Given the description of an element on the screen output the (x, y) to click on. 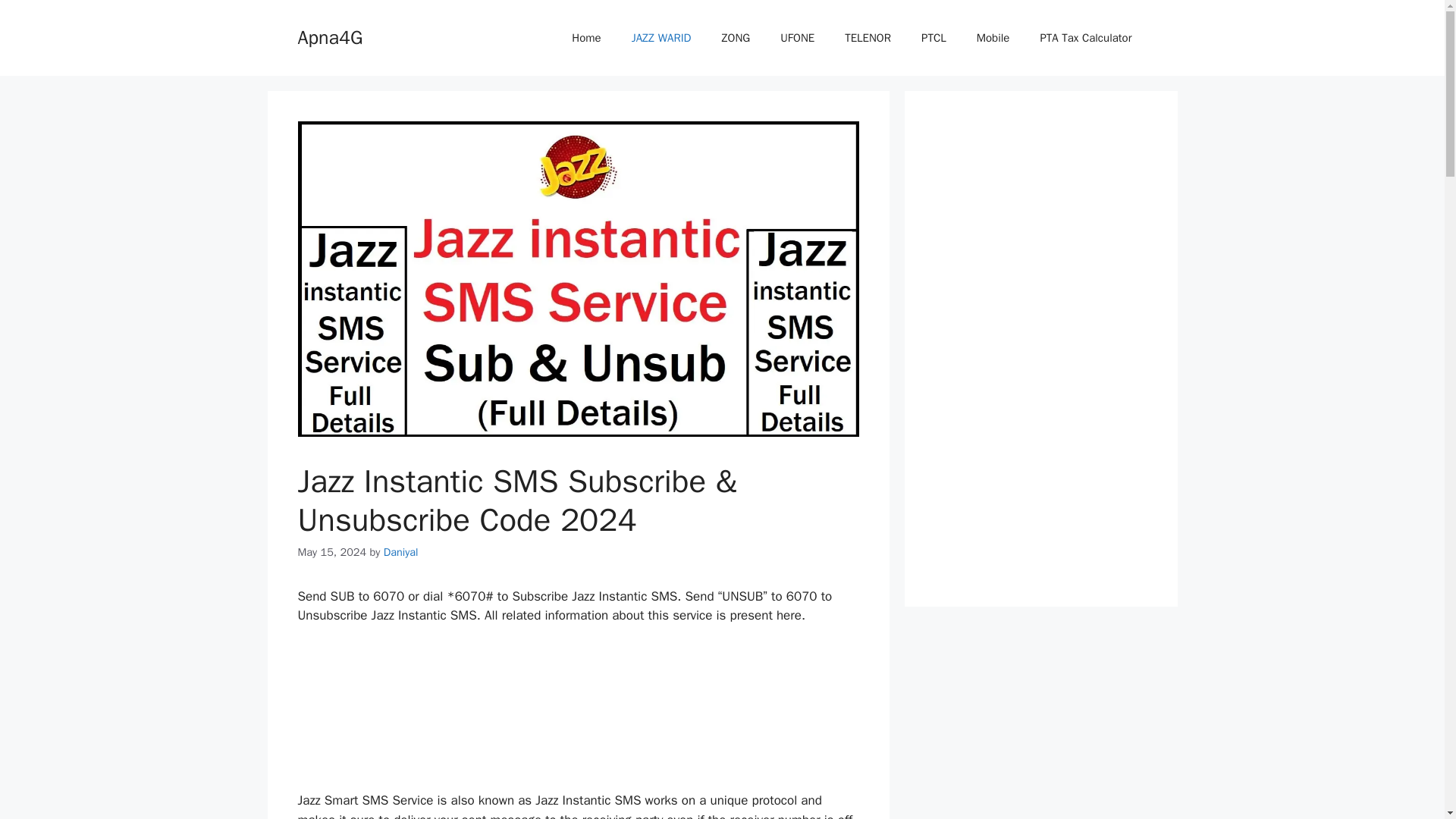
ZONG (735, 37)
JAZZ WARID (660, 37)
Home (585, 37)
Apna4G (329, 37)
View all posts by Daniyal (401, 551)
PTA Tax Calculator (1086, 37)
TELENOR (867, 37)
Advertisement (578, 714)
UFONE (797, 37)
Mobile (992, 37)
